Given the description of an element on the screen output the (x, y) to click on. 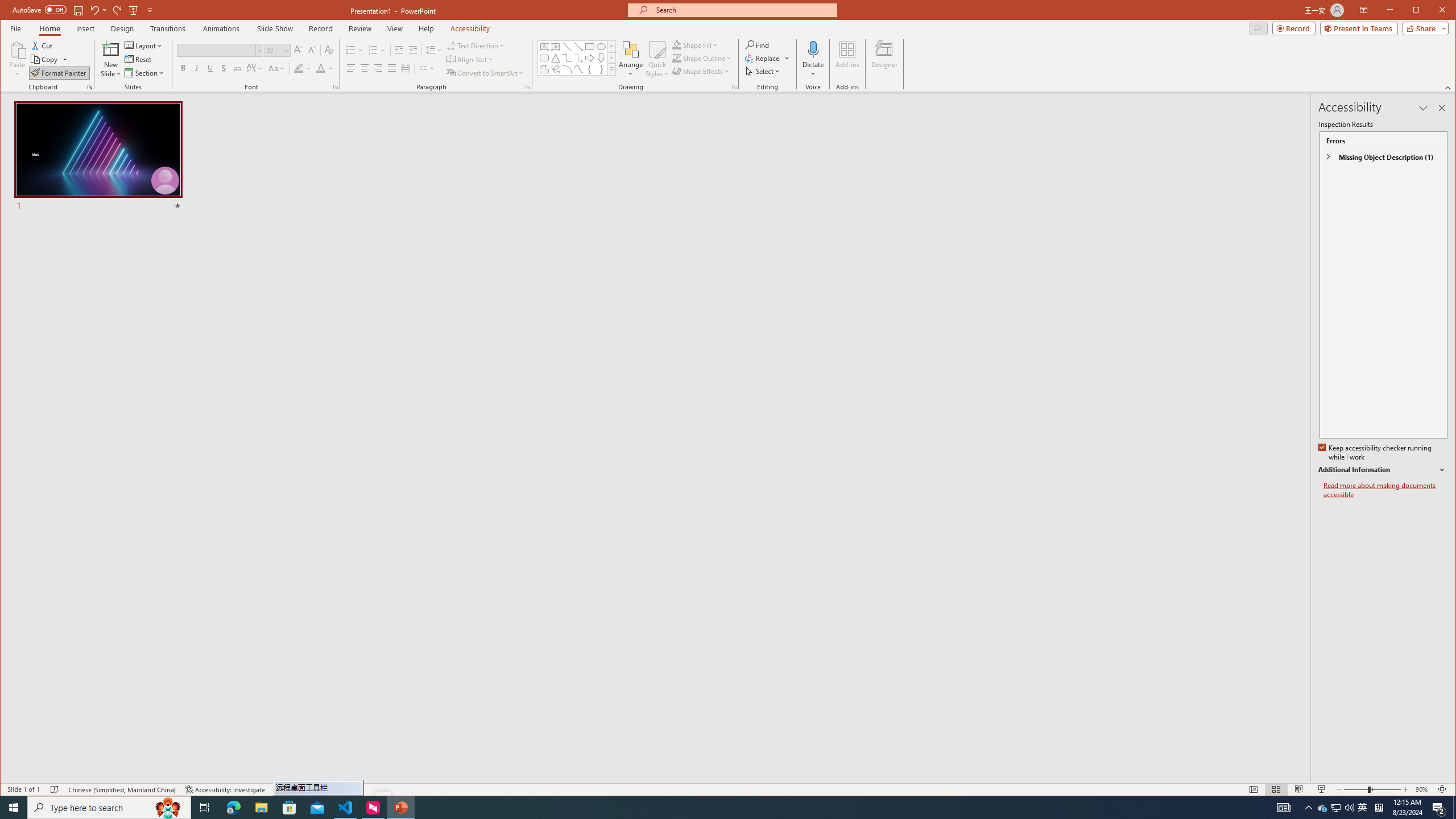
Keep accessibility checker running while I work (1375, 452)
